Given the description of an element on the screen output the (x, y) to click on. 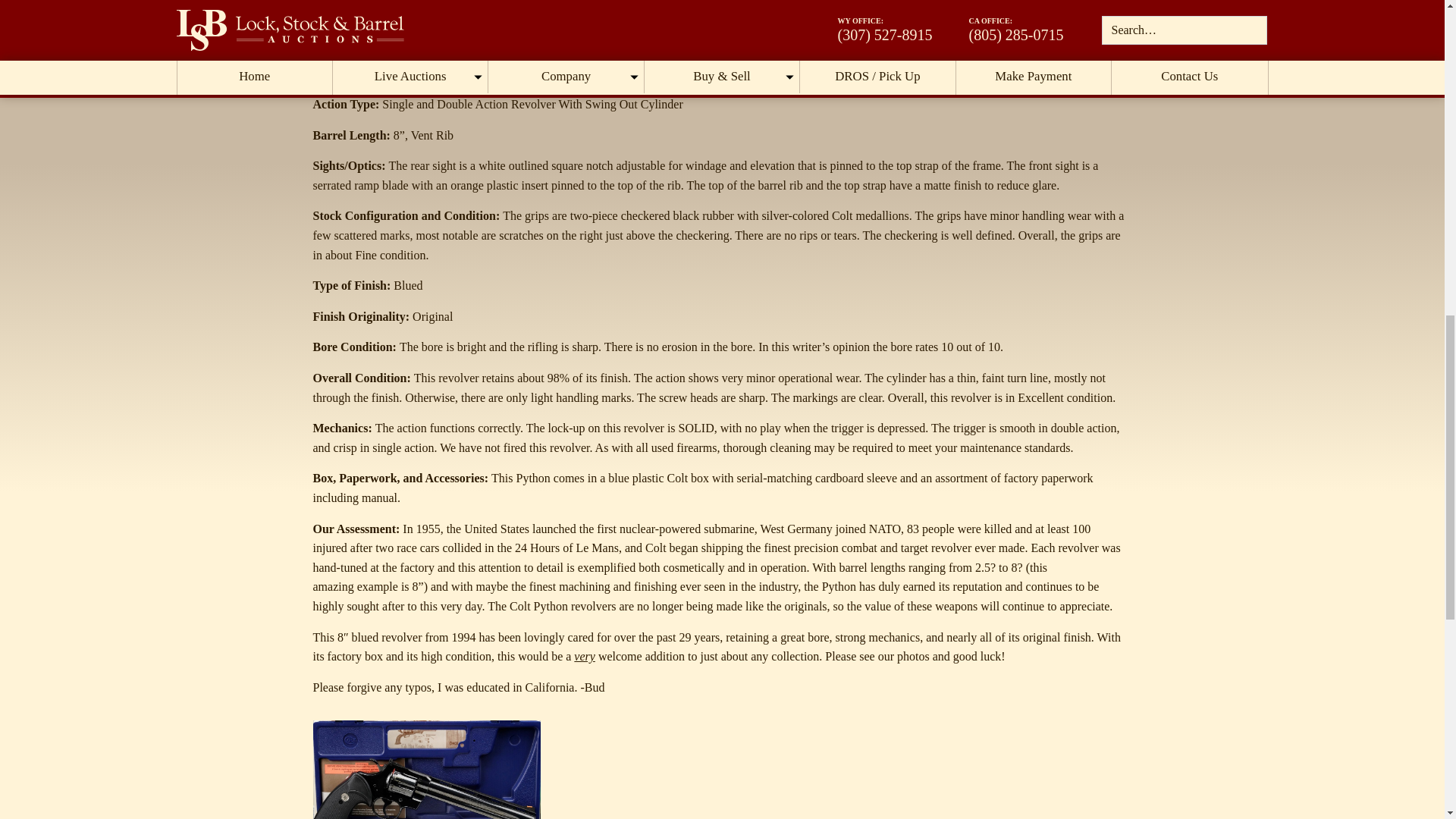
COLT Serial Number Lookup (532, 42)
